Given the description of an element on the screen output the (x, y) to click on. 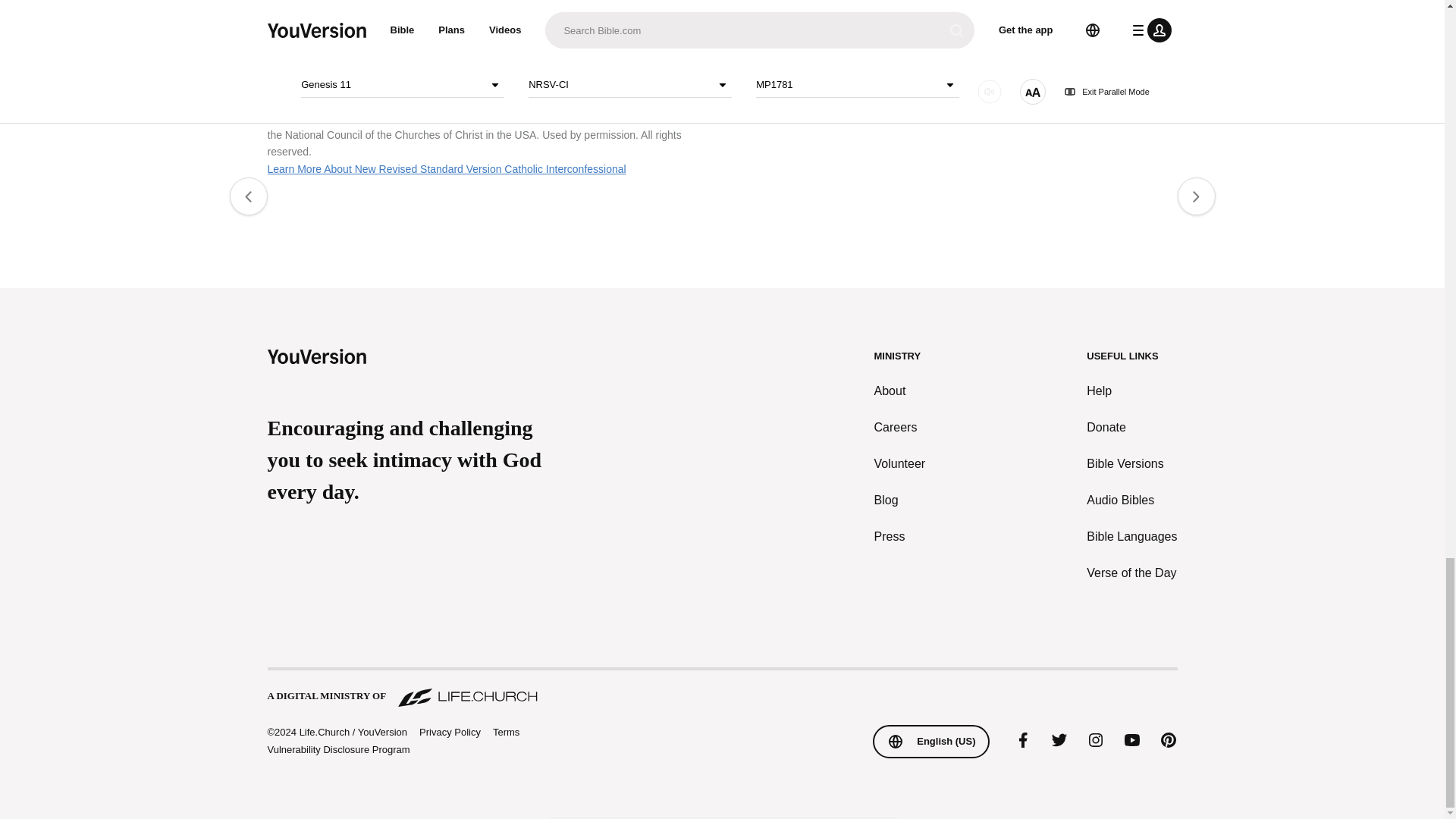
Donate (1131, 427)
Help (1131, 391)
Volunteer (900, 464)
Bible Languages (1131, 536)
Terms (506, 731)
A DIGITAL MINISTRY OF (721, 688)
Press (900, 536)
Careers (900, 427)
About (900, 391)
Verse of the Day (1131, 573)
Privacy Policy (449, 732)
Blog (900, 500)
Audio Bibles (1131, 500)
Vulnerability Disclosure Program (337, 749)
